Given the description of an element on the screen output the (x, y) to click on. 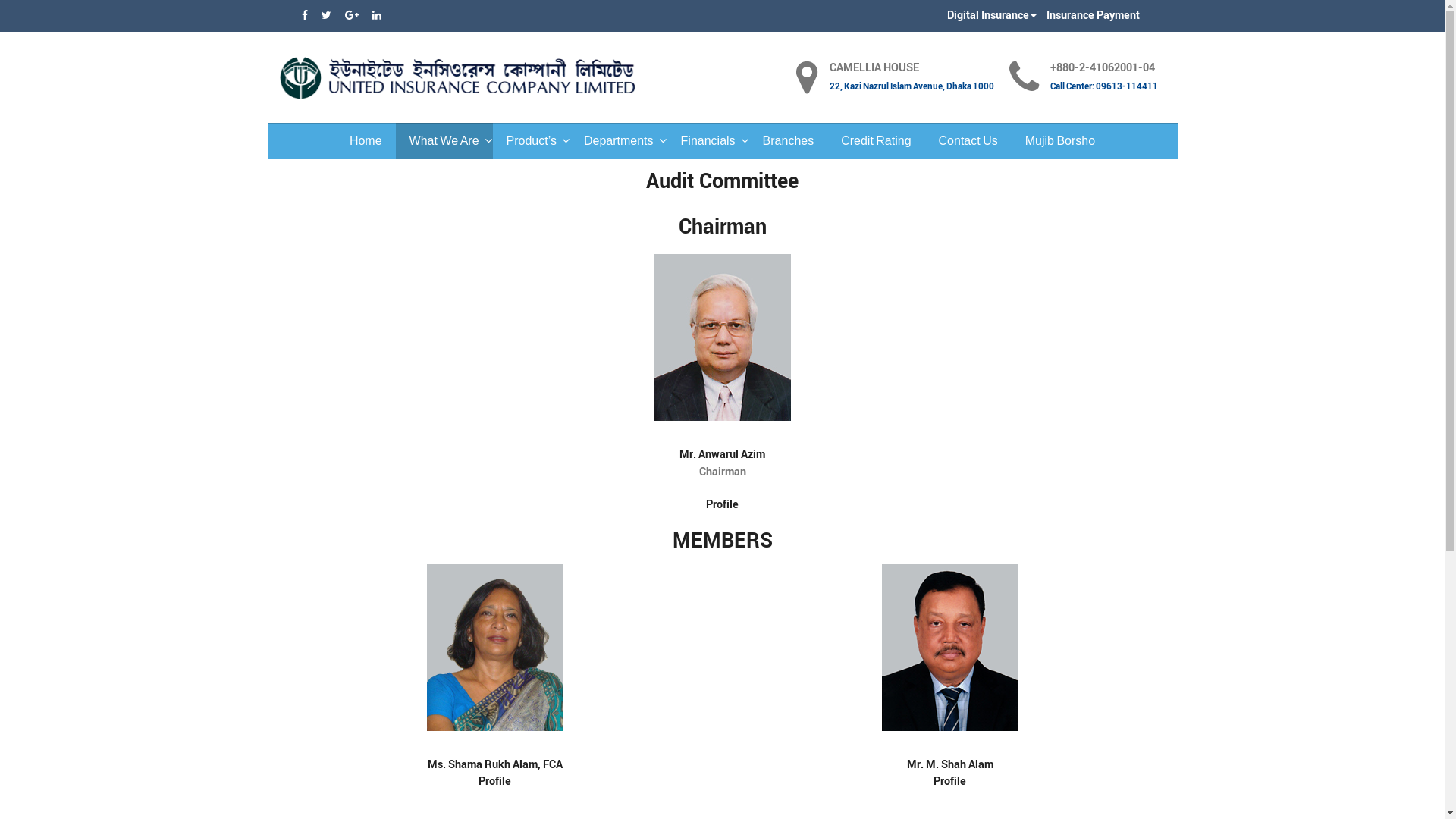
Digital Insurance Element type: text (992, 15)
Credit Rating Element type: text (875, 140)
Facebook Element type: hover (305, 15)
Profile Element type: text (949, 781)
Departments Element type: text (618, 140)
Mujib Borsho Element type: text (1060, 140)
Twitter Element type: hover (327, 15)
Linkdin Element type: hover (375, 15)
Insurance Payment Element type: text (1091, 15)
Call Center: 09613-114411 Element type: text (1103, 86)
Financials Element type: text (707, 140)
Profile Element type: text (494, 781)
Contact Us Element type: text (967, 140)
Branches Element type: text (788, 140)
Profile Element type: text (722, 504)
Search Element type: text (37, 18)
22, Kazi Nazrul Islam Avenue, Dhaka 1000 Element type: text (911, 86)
What We Are Element type: text (444, 140)
Google+ Element type: hover (352, 15)
Home Element type: text (365, 140)
